Given the description of an element on the screen output the (x, y) to click on. 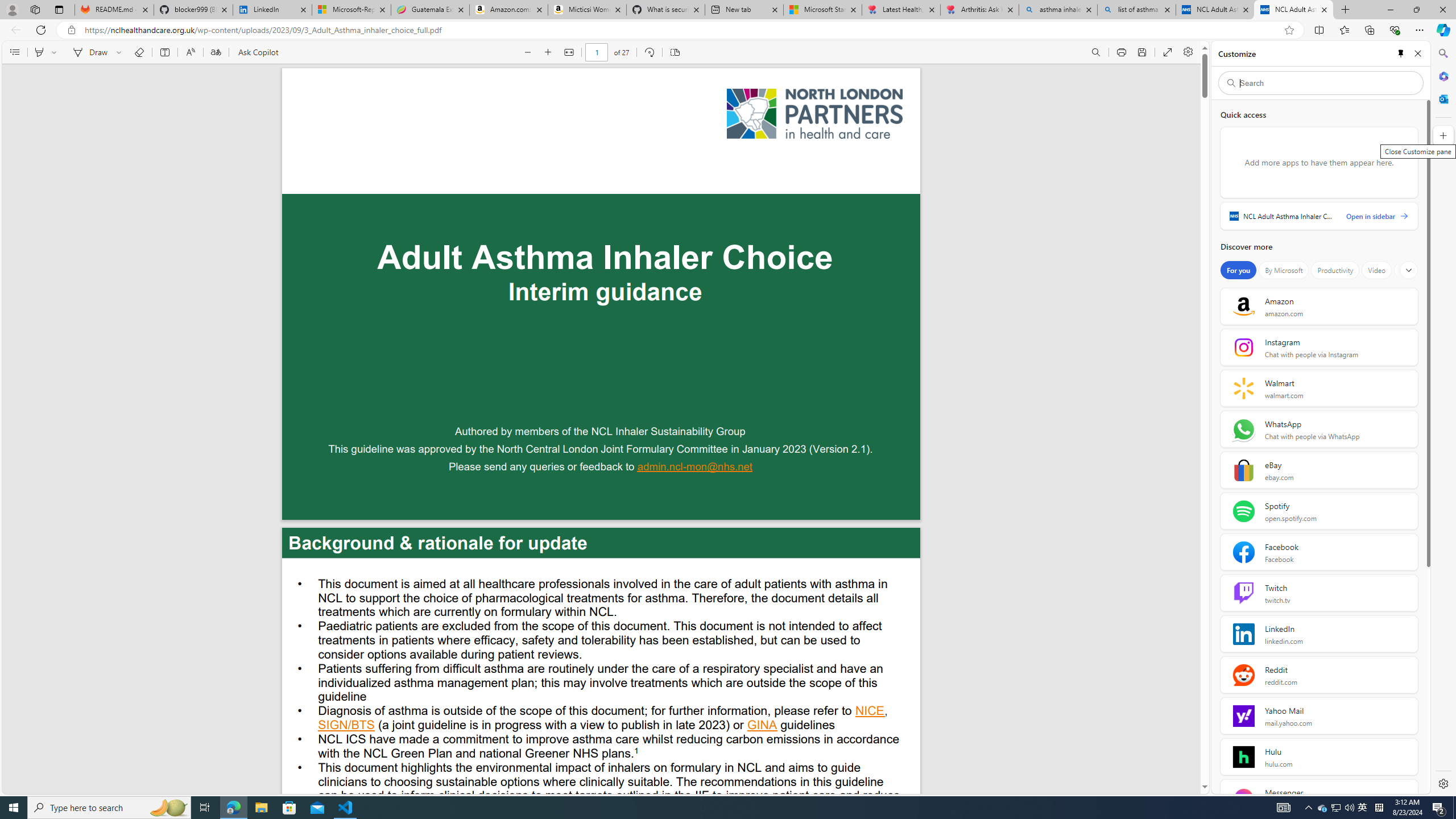
Draw (88, 52)
Video (1376, 270)
